Given the description of an element on the screen output the (x, y) to click on. 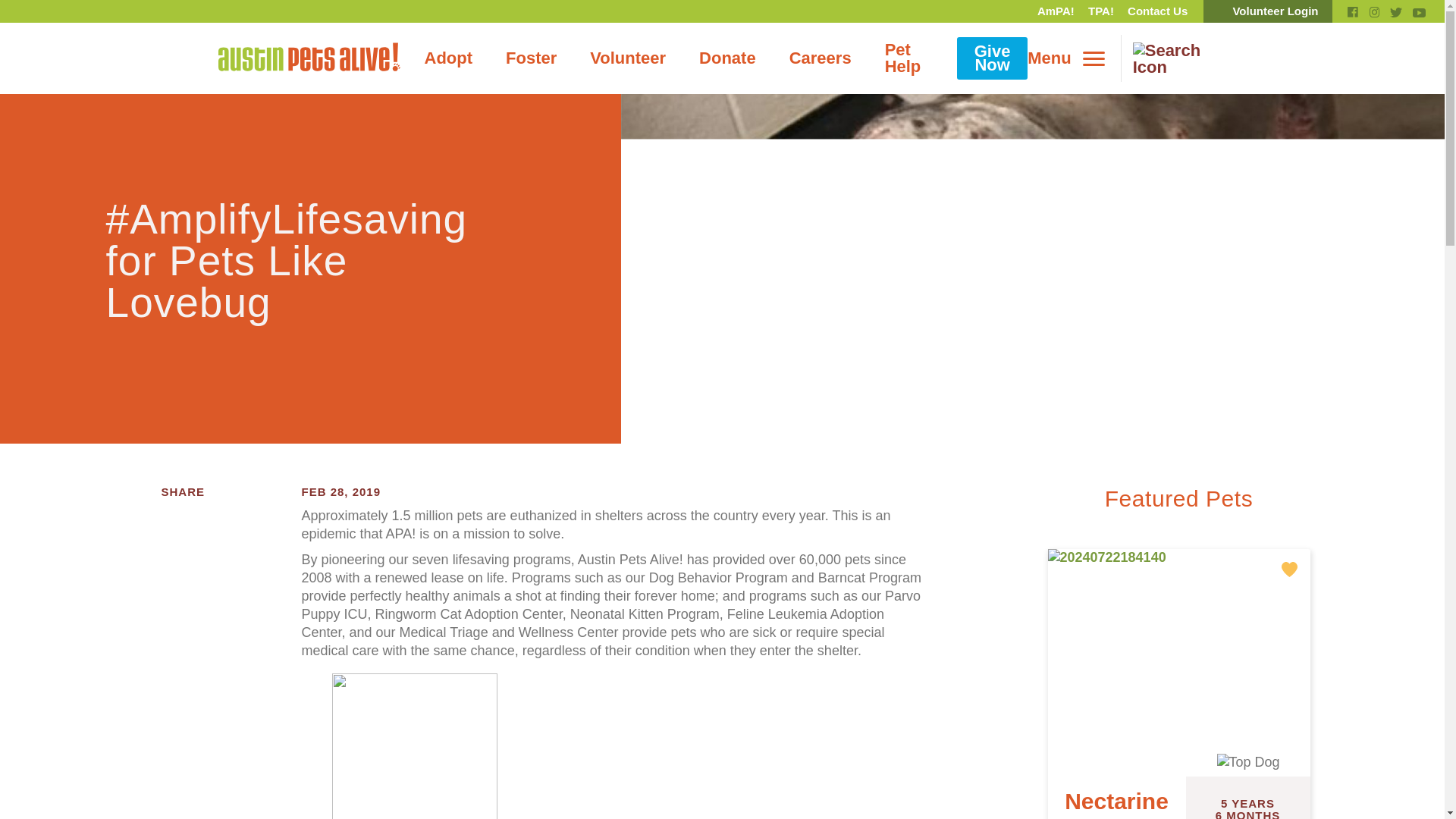
Pet Help (902, 58)
Donate (727, 58)
Careers (820, 58)
TPA! (1101, 11)
Foster (531, 58)
Adopt (448, 58)
AmPA! (1056, 11)
Volunteer Login (1268, 11)
Contact Us (1157, 11)
Volunteer (627, 58)
